Given the description of an element on the screen output the (x, y) to click on. 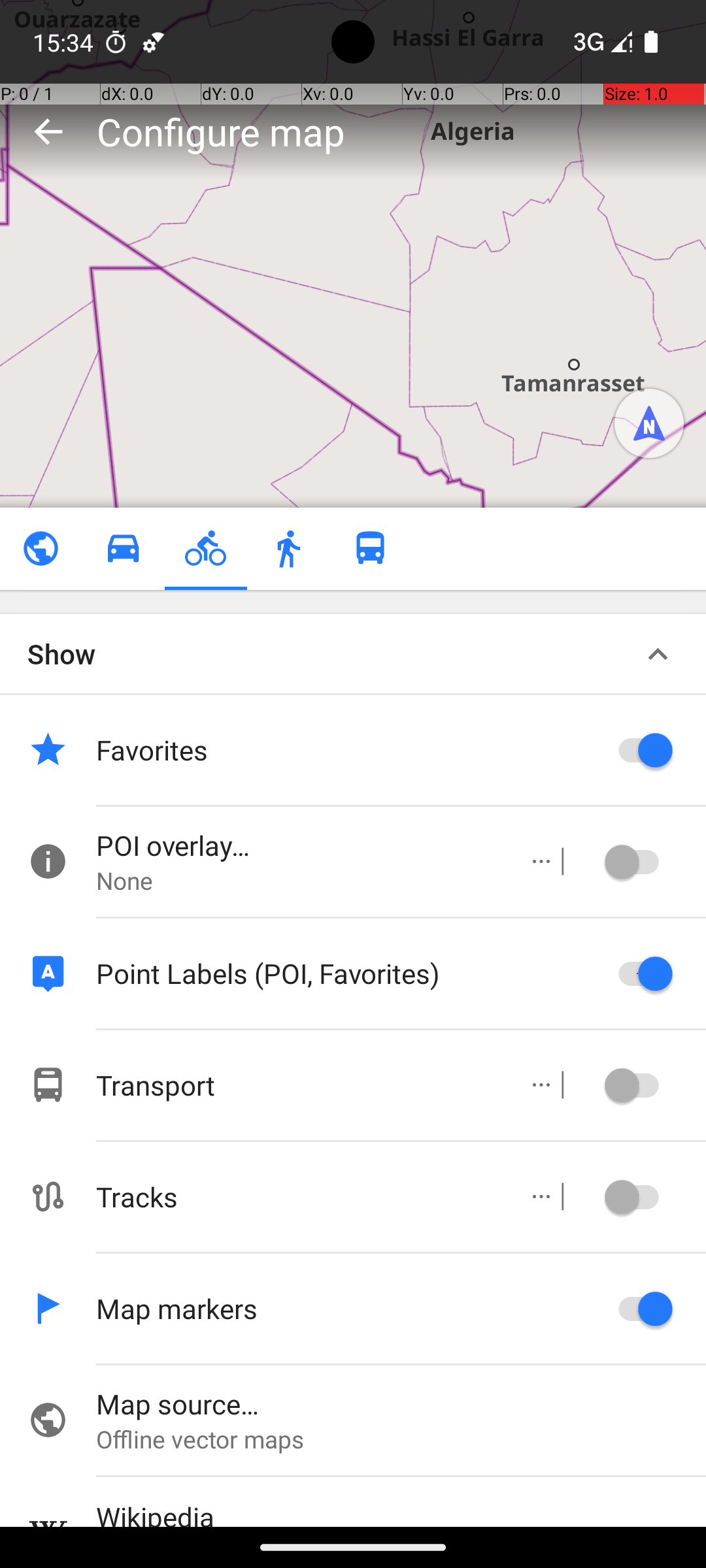
Back to map Element type: android.widget.ImageButton (48, 131)
Movement direction Element type: android.widget.ImageButton (649, 423)
Browse map unchecked Element type: android.widget.ImageView (40, 548)
Cycling checked Element type: android.widget.ImageView (205, 548)
Show Element type: android.widget.TextView (61, 653)
POI overlay… Element type: android.widget.TextView (298, 844)
Point Labels (POI, Favorites) Element type: android.widget.TextView (346, 972)
Transport Element type: android.widget.TextView (298, 1084)
Map source… Element type: android.widget.TextView (401, 1403)
Offline vector maps Element type: android.widget.TextView (401, 1438)
